Given the description of an element on the screen output the (x, y) to click on. 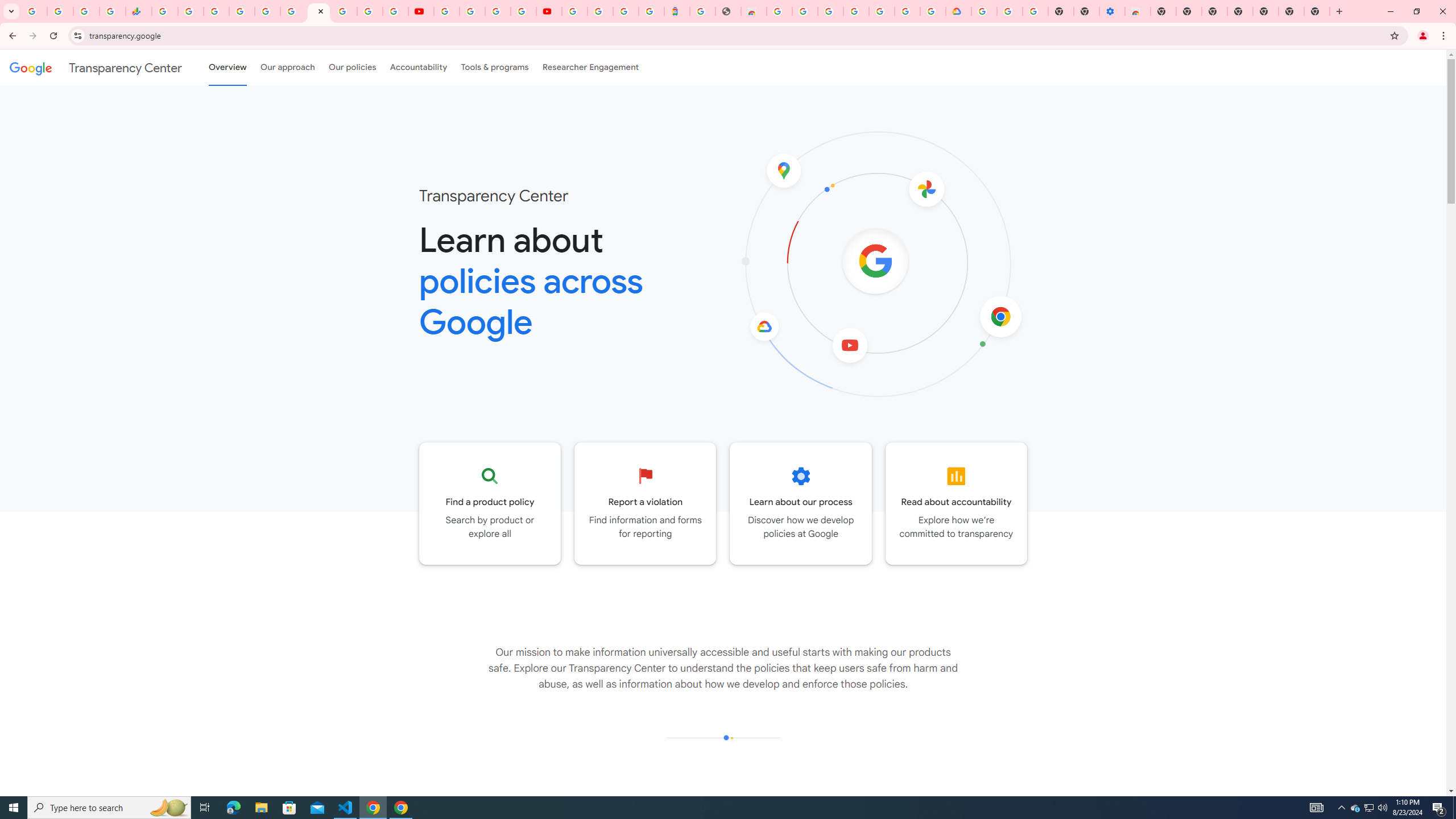
Chrome Web Store - Household (753, 11)
Google Account Help (472, 11)
Researcher Engagement (590, 67)
Go to the Reporting and appeals page (645, 503)
Tools & programs (494, 67)
YouTube (446, 11)
Create your Google Account (497, 11)
Settings - Accessibility (1111, 11)
Chrome Web Store - Accessibility extensions (1137, 11)
Our policies (351, 67)
